Given the description of an element on the screen output the (x, y) to click on. 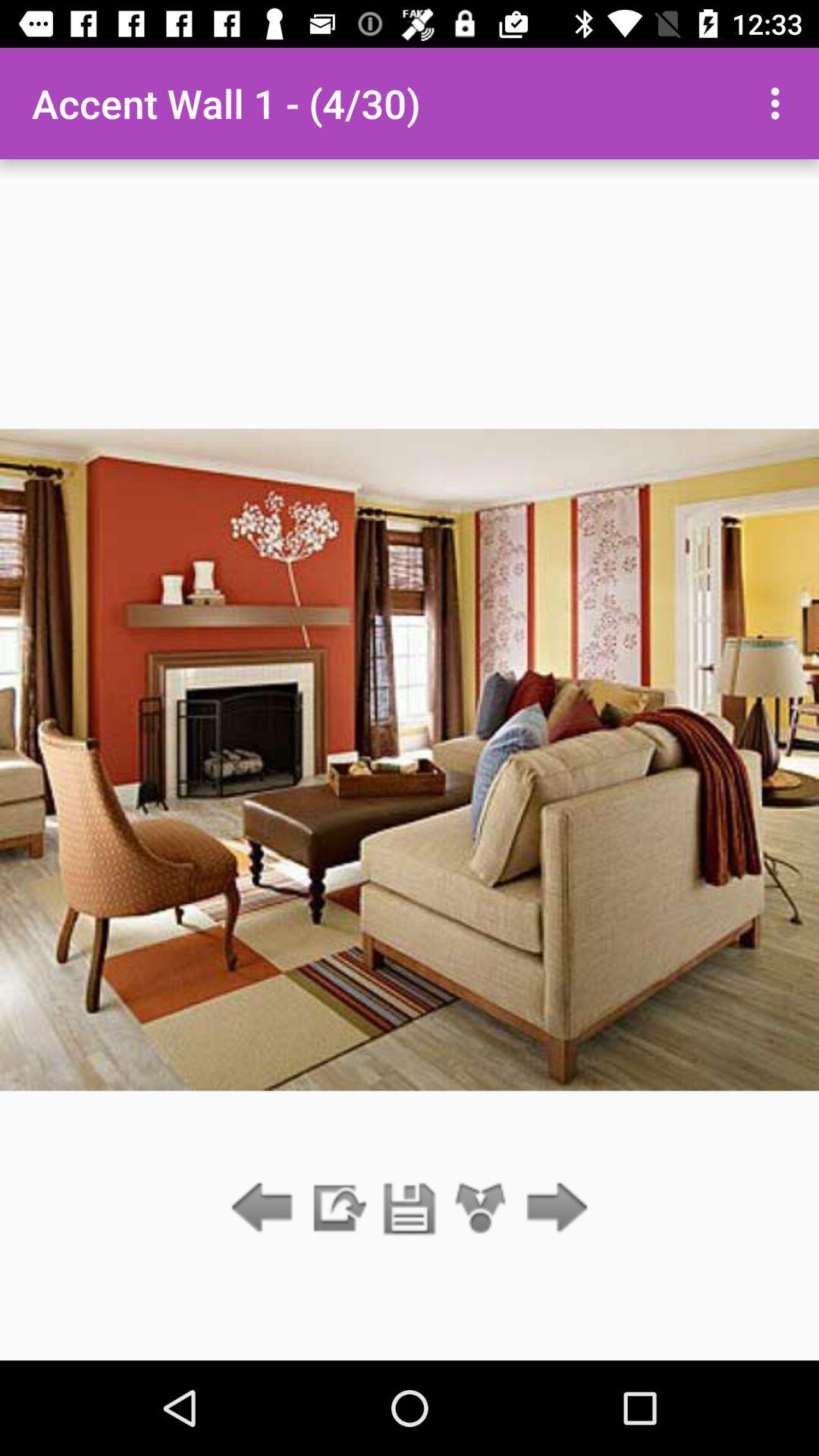
see next picture (552, 1209)
